Given the description of an element on the screen output the (x, y) to click on. 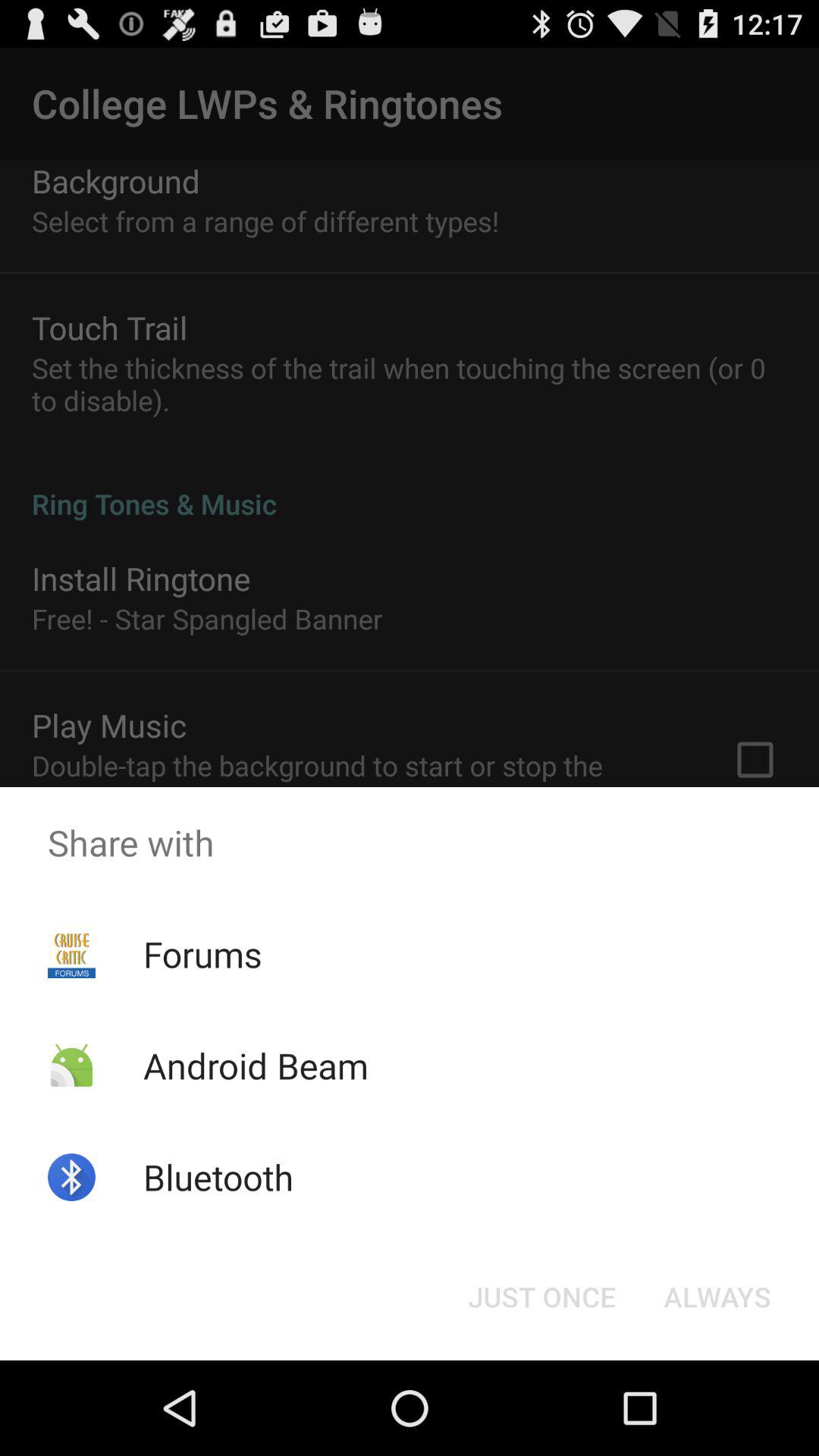
open the always icon (717, 1296)
